Given the description of an element on the screen output the (x, y) to click on. 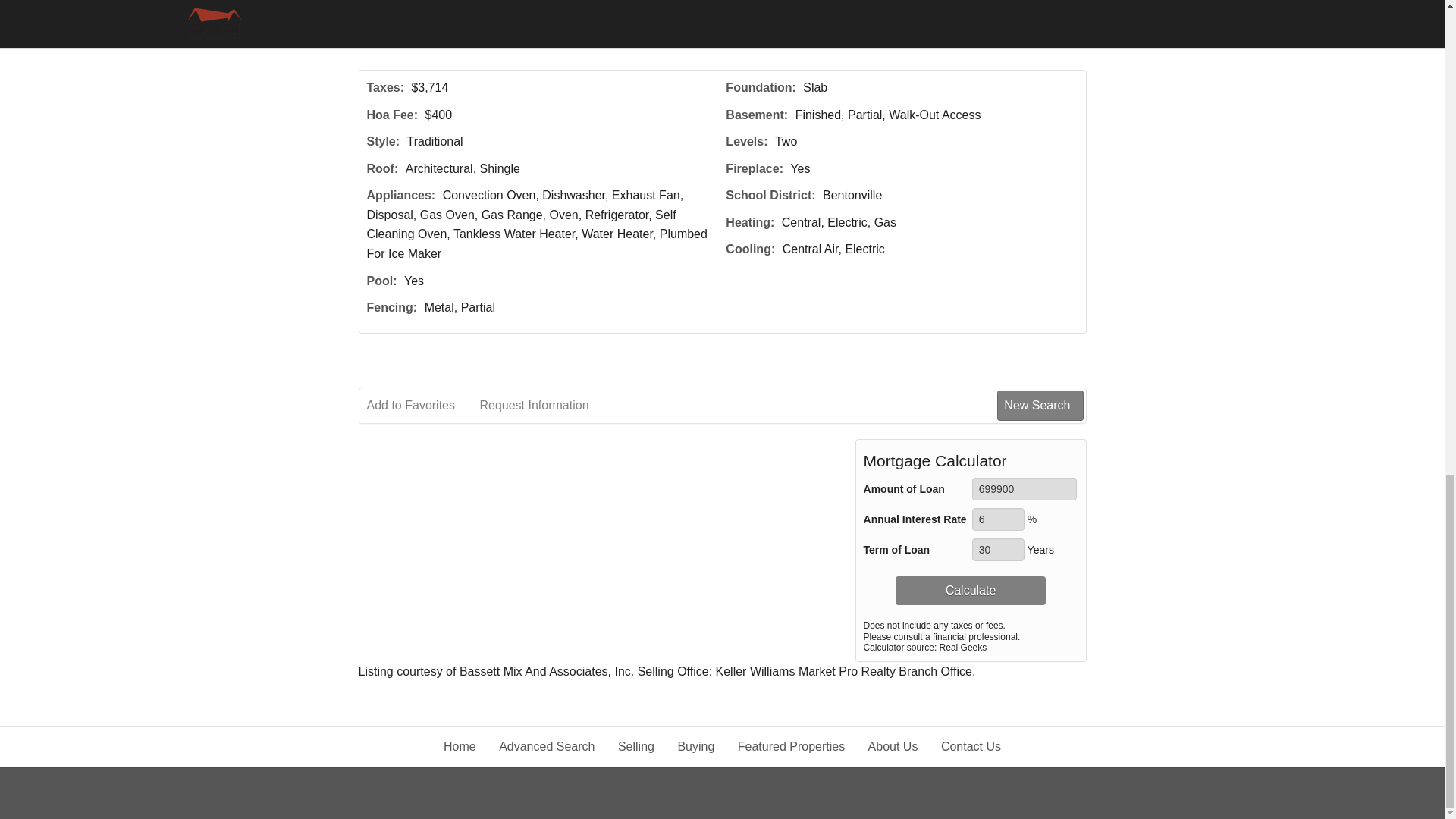
30 (998, 549)
699900 (1024, 488)
6 (998, 518)
